Given the description of an element on the screen output the (x, y) to click on. 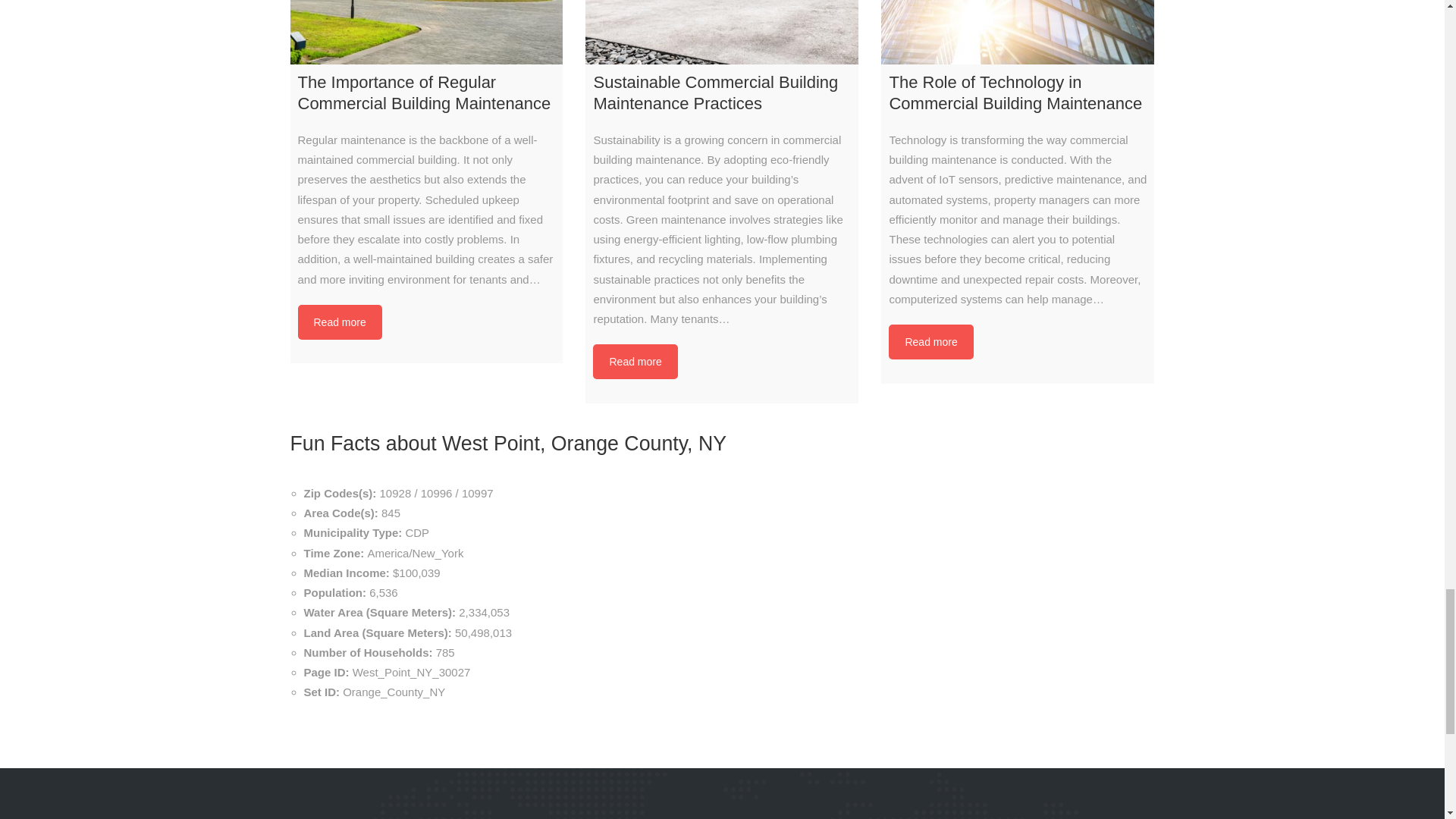
Read more (634, 361)
The Role of Technology in Commercial Building Maintenance (1017, 32)
Read more (339, 321)
Read more (930, 341)
